Given the description of an element on the screen output the (x, y) to click on. 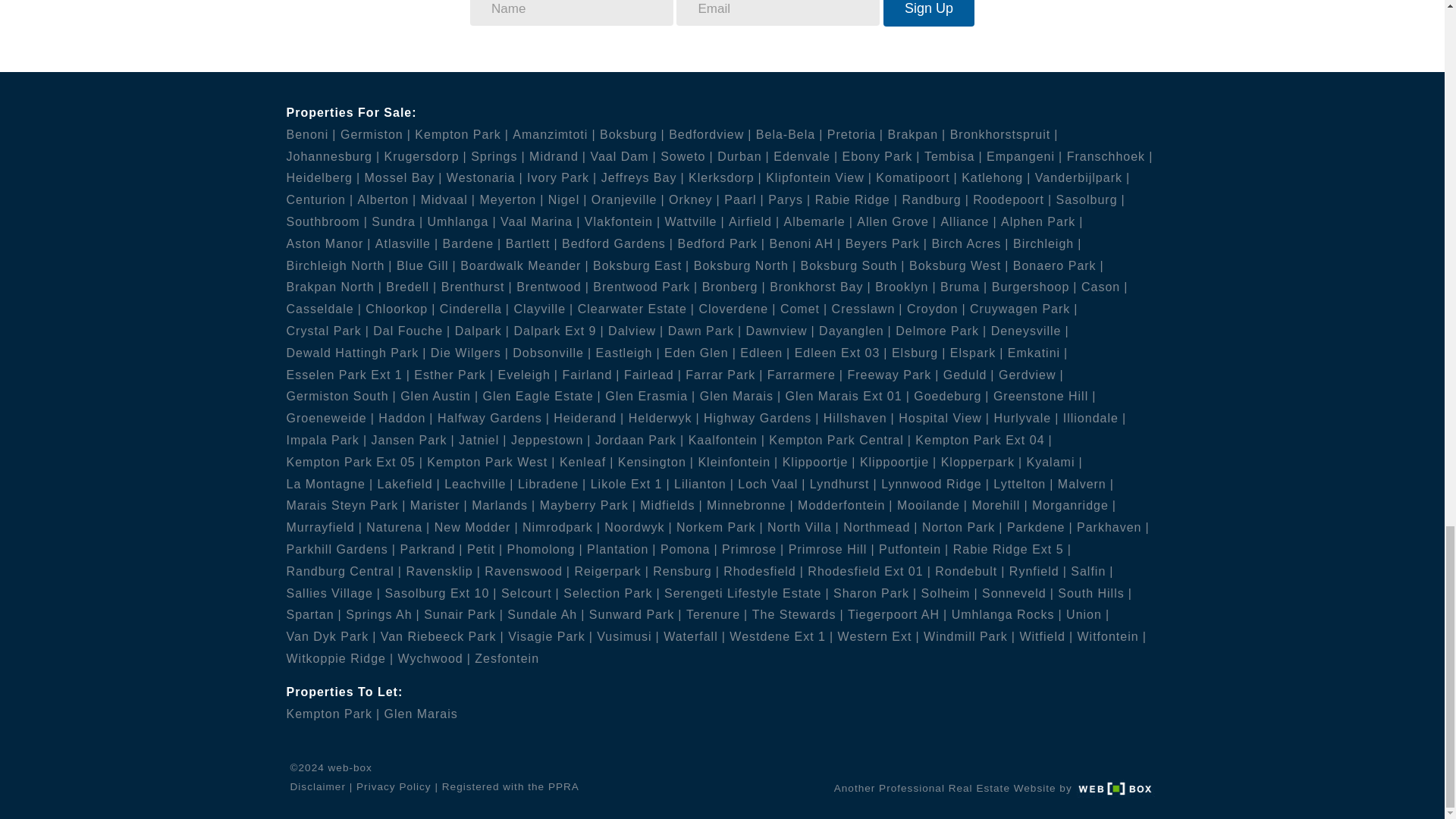
Properties for sale in Pretoria (855, 133)
Properties for sale in Boksburg (632, 133)
Properties for sale in Kempton Park (461, 133)
Properties for sale in Bela-Bela (789, 133)
Properties for sale in Brakpan (915, 133)
Properties for sale in Germiston (375, 133)
Properties for sale in Amanzimtoti (553, 133)
Properties for sale in Bedfordview (709, 133)
Properties for sale in Benoni (311, 133)
